Given the description of an element on the screen output the (x, y) to click on. 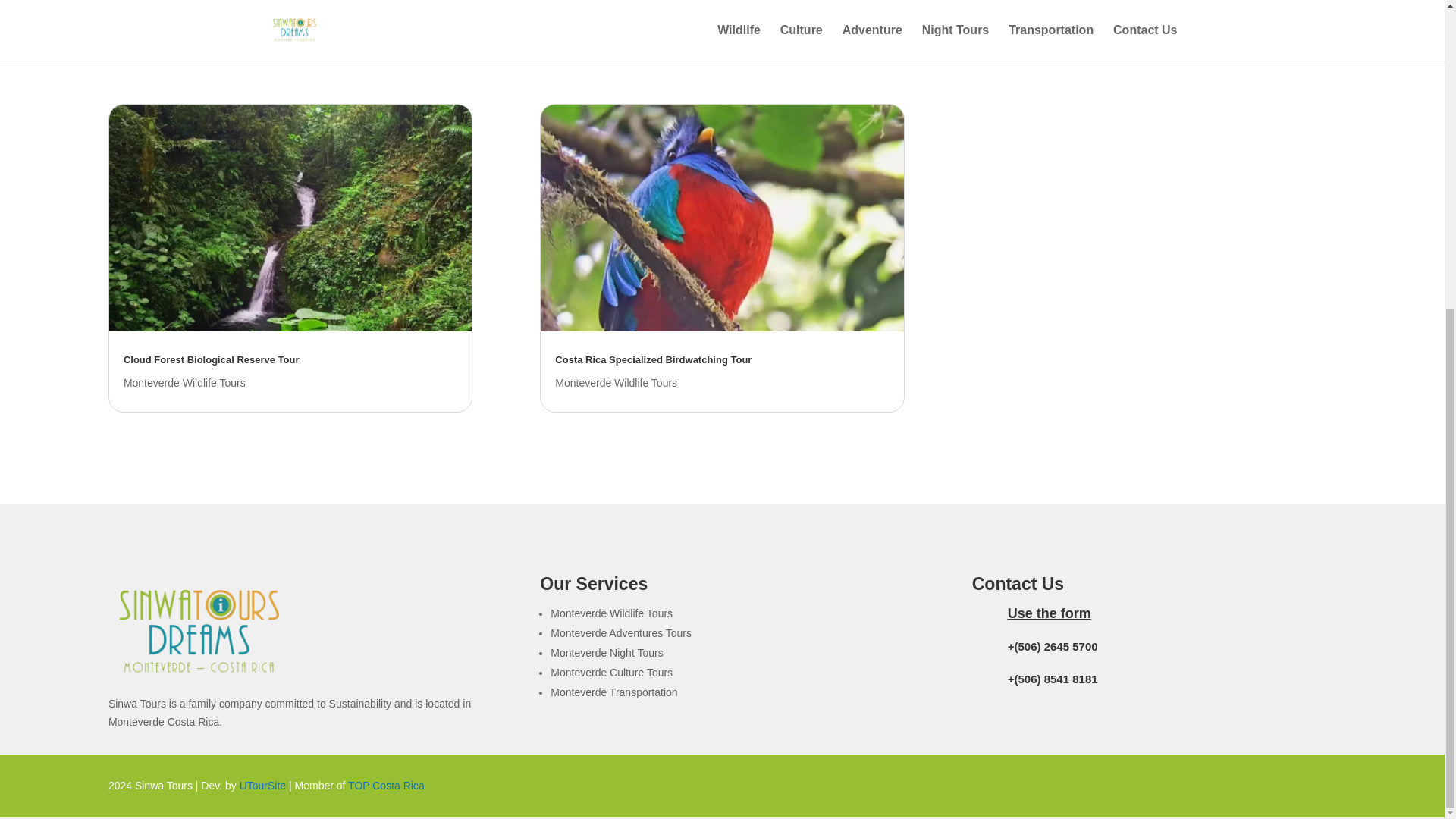
Monteverde Night Tours (179, 6)
Monteverde Adventures Tours (620, 633)
Monteverde Night Tours (606, 653)
Costa Rica Specialized Birdwatching Tour (652, 359)
Sinwa tours Costa Rica (198, 631)
Monteverde Wildlife Tours (615, 382)
Monteverde Transportation (613, 692)
Monteverde Wildlife Tours (184, 382)
Cloud Forest Biological Reserve Tour (211, 359)
Monteverde Culture Tours (1048, 6)
